Given the description of an element on the screen output the (x, y) to click on. 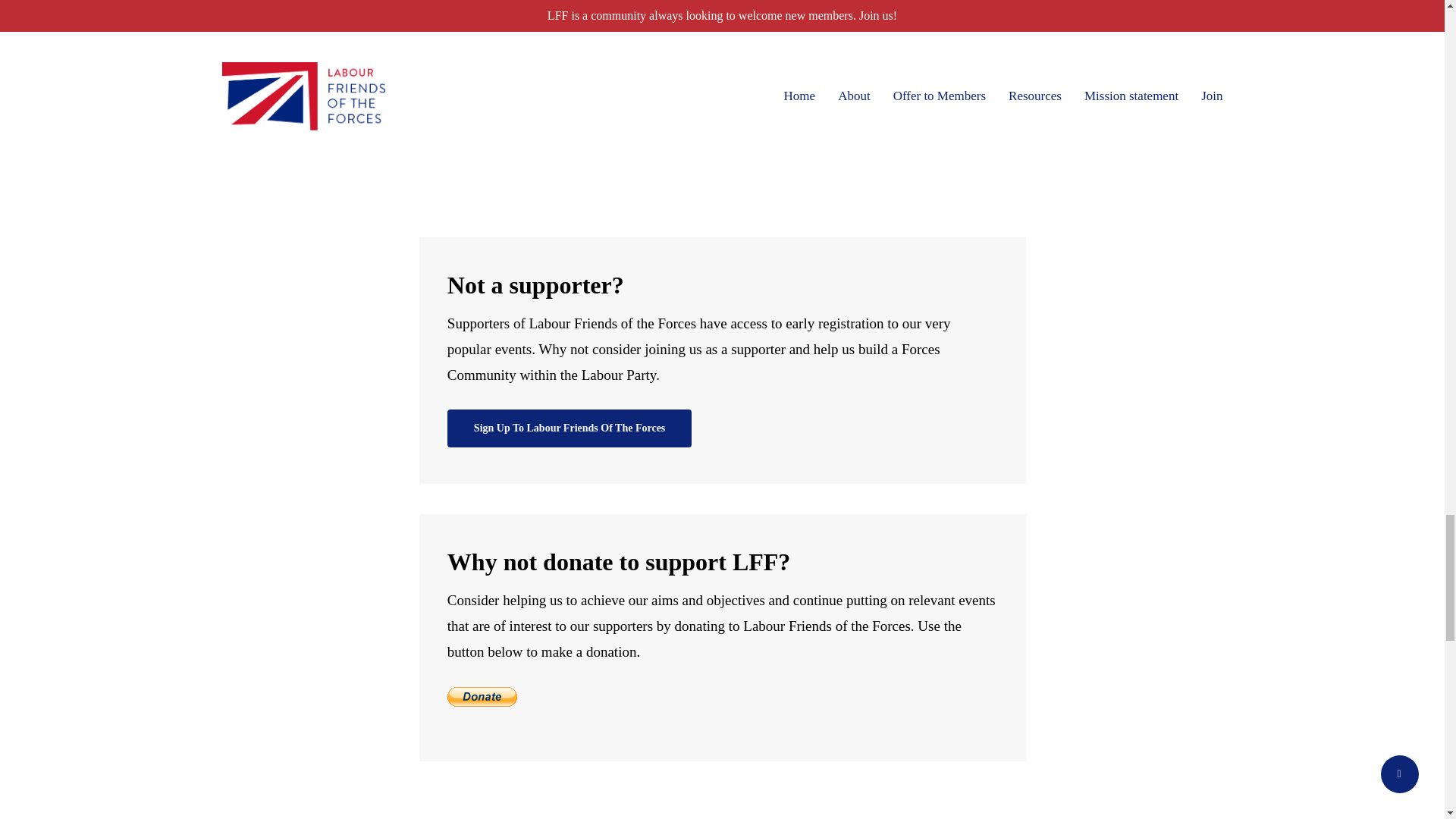
Sign Up To Labour Friends Of The Forces (568, 428)
